Given the description of an element on the screen output the (x, y) to click on. 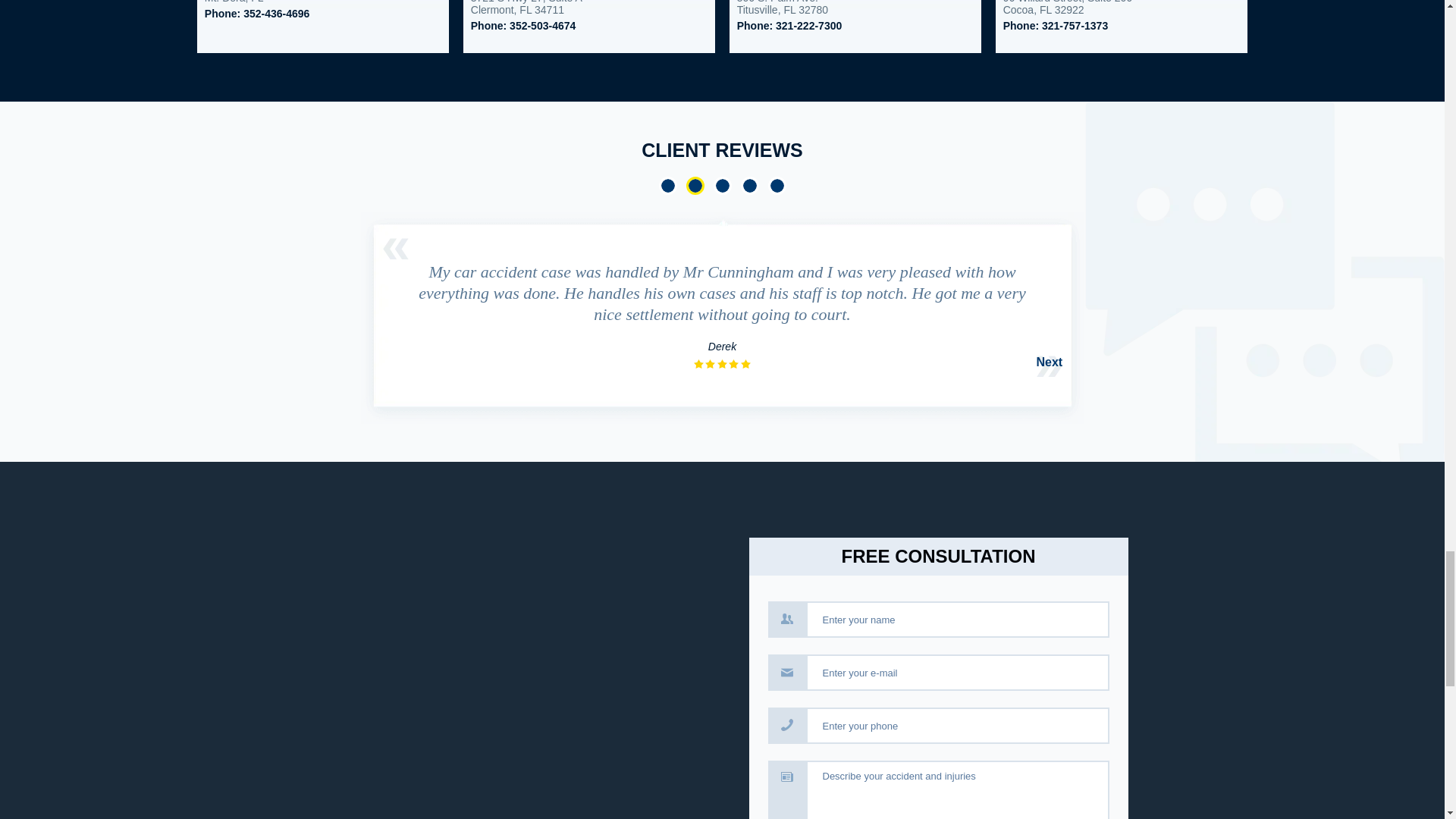
Enter your phone (956, 725)
Enter your name (956, 619)
Enter your e-mail (956, 672)
